Given the description of an element on the screen output the (x, y) to click on. 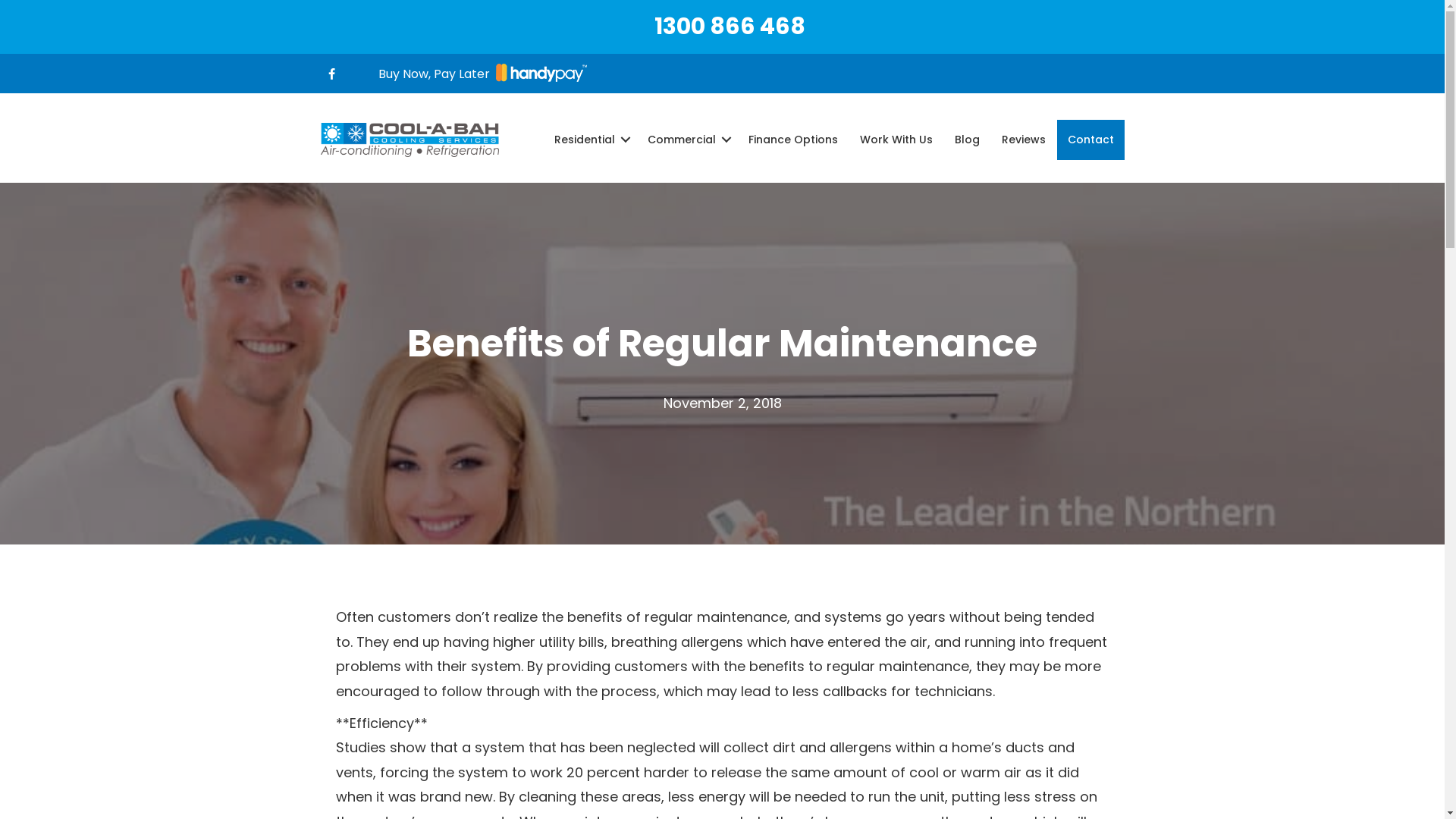
Commercial Element type: text (687, 139)
Reviews Element type: text (1022, 139)
Finance Options Element type: text (792, 139)
1300 866 468 Element type: text (729, 26)
Blog Element type: text (966, 139)
Residential Element type: text (588, 139)
Buy Now, Pay Later  Element type: text (482, 73)
Contact Element type: text (1090, 139)
logo Element type: hover (409, 139)
Work With Us Element type: text (896, 139)
